Given the description of an element on the screen output the (x, y) to click on. 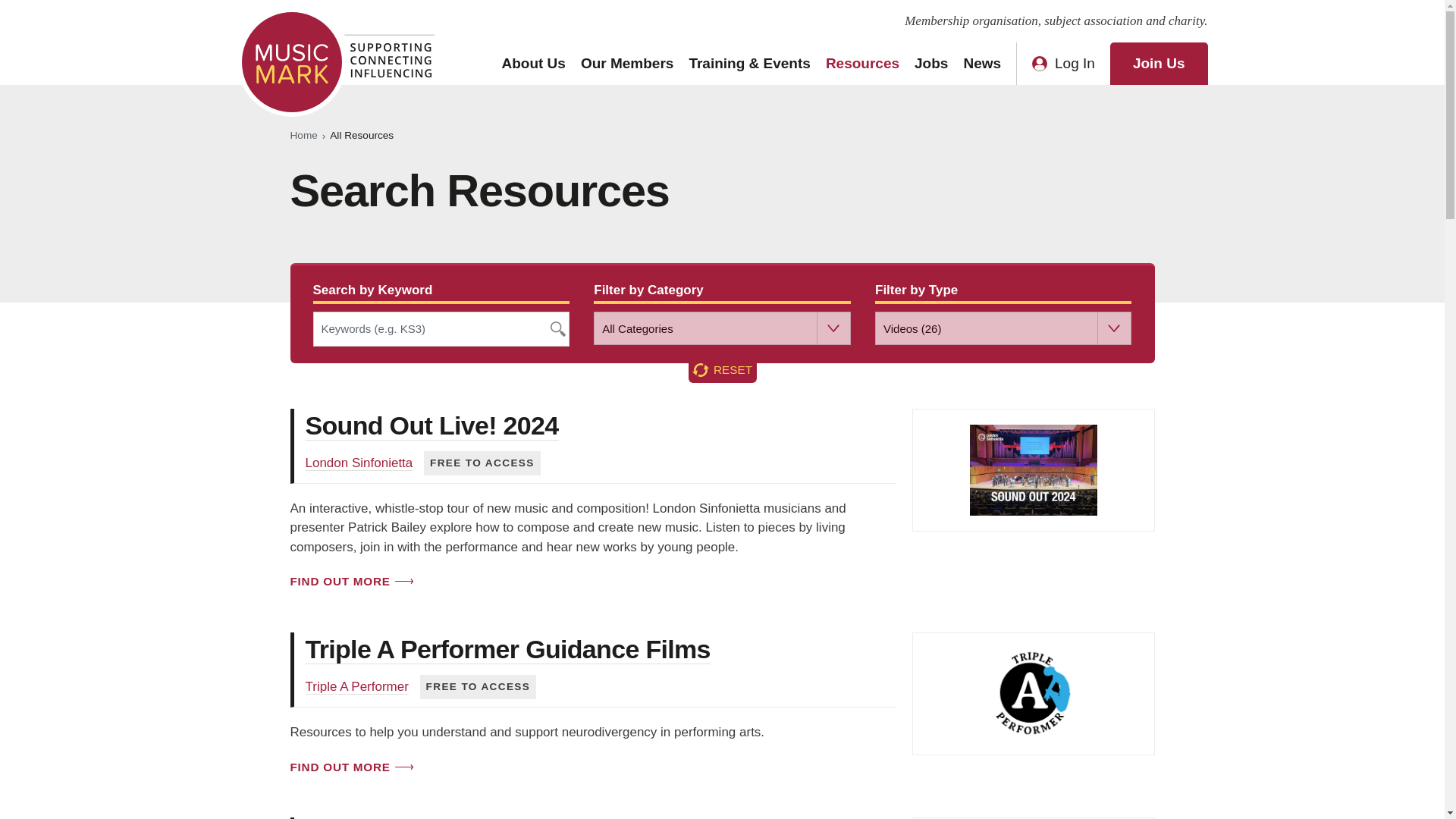
FIND OUT MORE (350, 580)
News (981, 63)
Join Us (1158, 63)
Log In (1063, 63)
About Us (532, 63)
Sound Out Live! 2024 (430, 425)
Home (303, 136)
Go to Homepage. (303, 136)
FIND OUT MORE (350, 766)
Resources (862, 63)
